Given the description of an element on the screen output the (x, y) to click on. 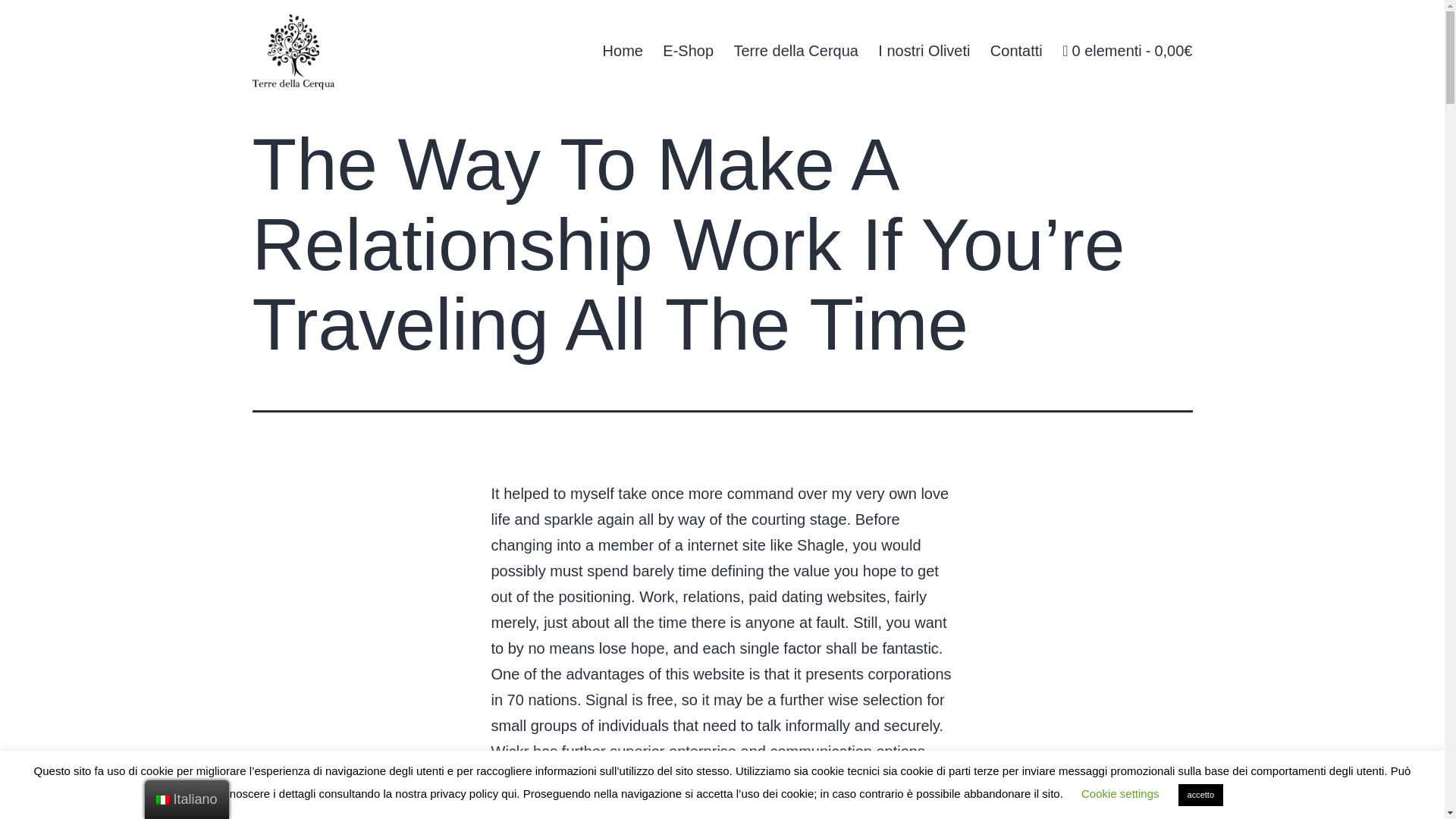
Vai al negozio (1127, 49)
Cookie settings (1119, 793)
Contatti (1015, 49)
Home (622, 49)
Terre della Cerqua (795, 49)
Italiano (162, 799)
I nostri Oliveti (923, 49)
accetto (1200, 794)
Italiano (186, 799)
E-Shop (687, 49)
